Given the description of an element on the screen output the (x, y) to click on. 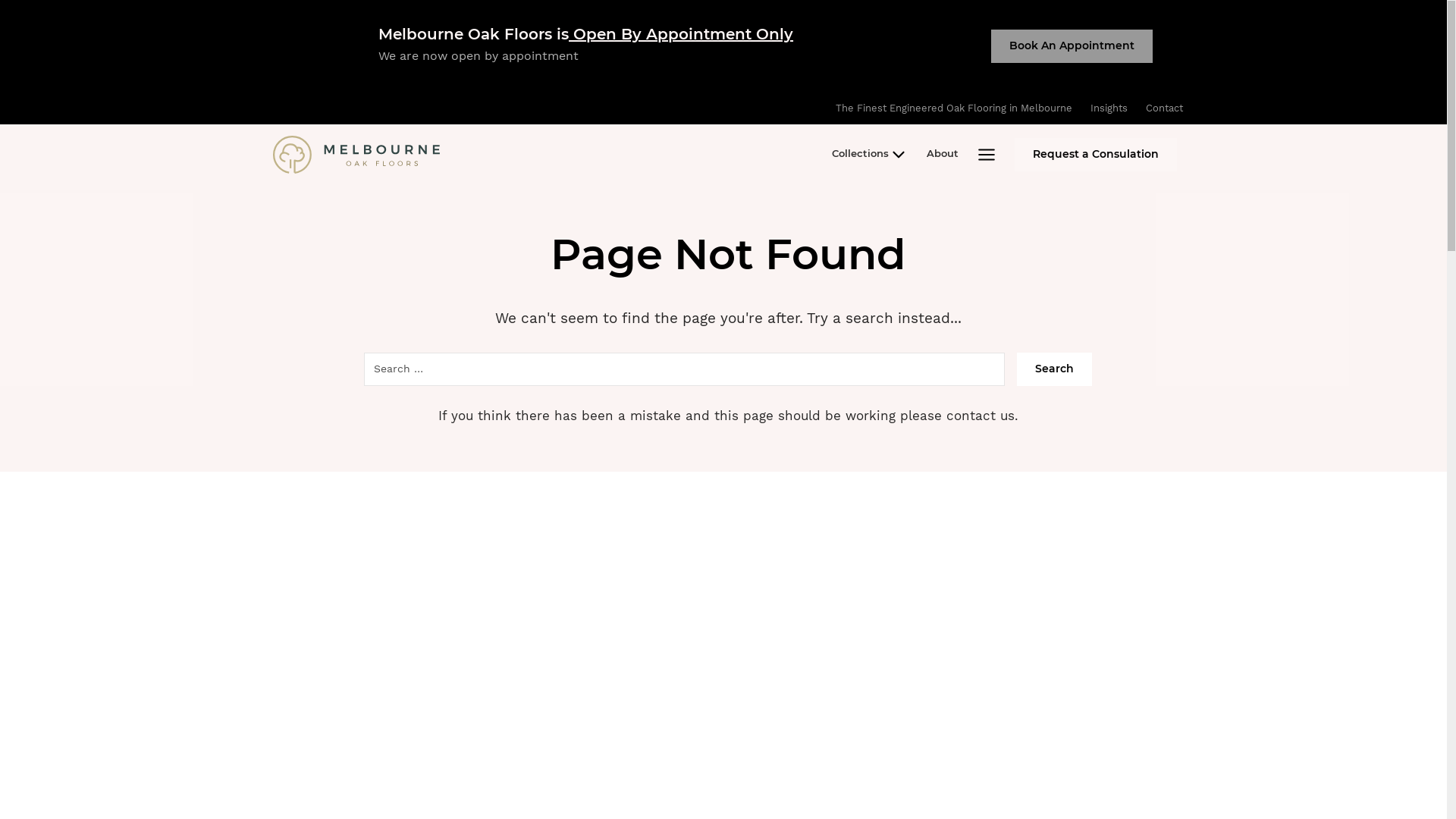
Book An Appointment Element type: text (1071, 45)
About Element type: text (942, 154)
Request a Consulation Element type: text (1095, 154)
Contact Element type: text (1164, 108)
Search Element type: text (1054, 368)
Menu Element type: text (986, 154)
Insights Element type: text (1108, 108)
The Finest Engineered Oak Flooring in Melbourne Element type: text (953, 108)
Collections Element type: text (869, 154)
